Given the description of an element on the screen output the (x, y) to click on. 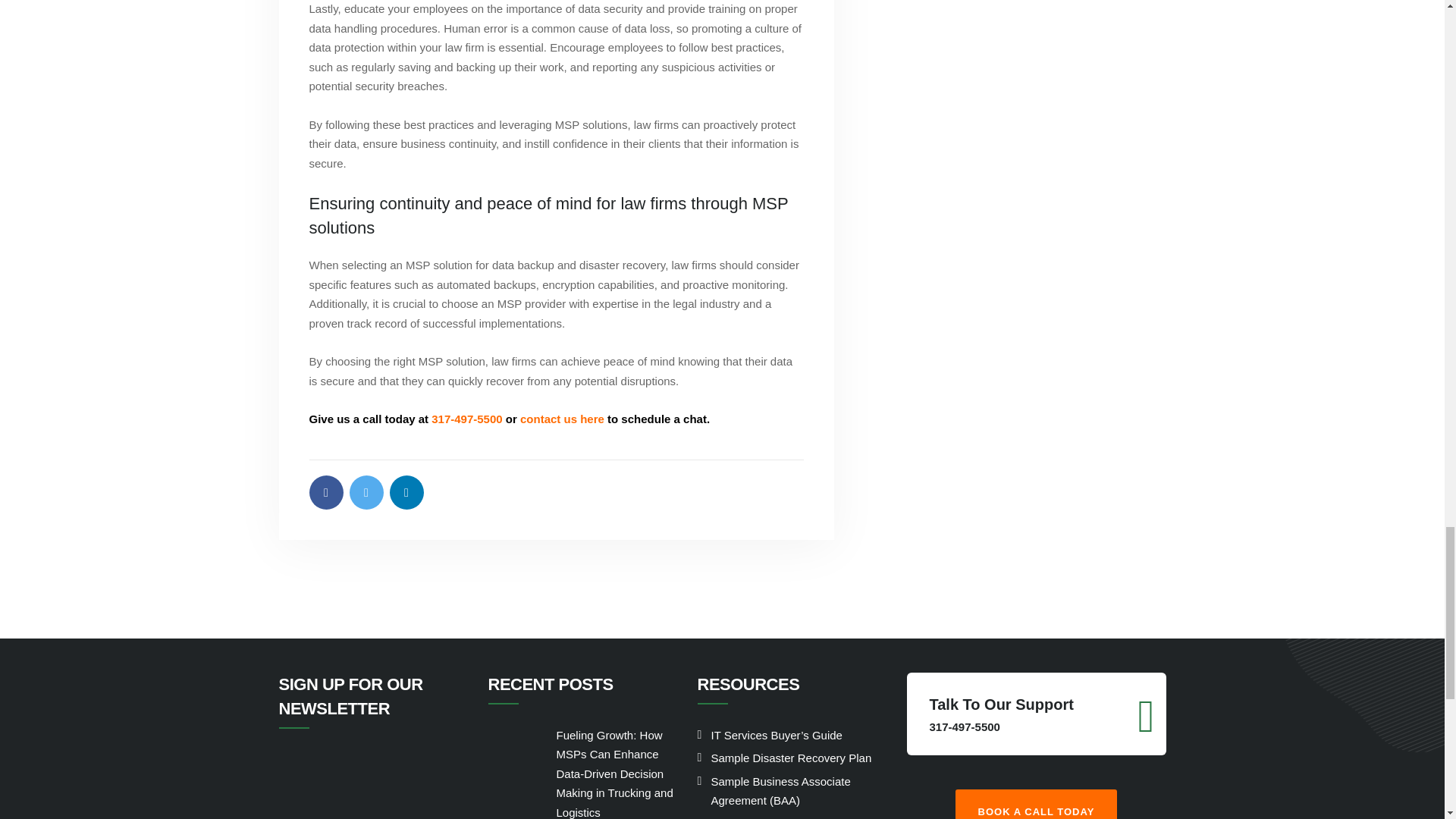
Share on Twitter (365, 491)
Share on Facebook (325, 491)
Share on LinkedIn (406, 491)
